Given the description of an element on the screen output the (x, y) to click on. 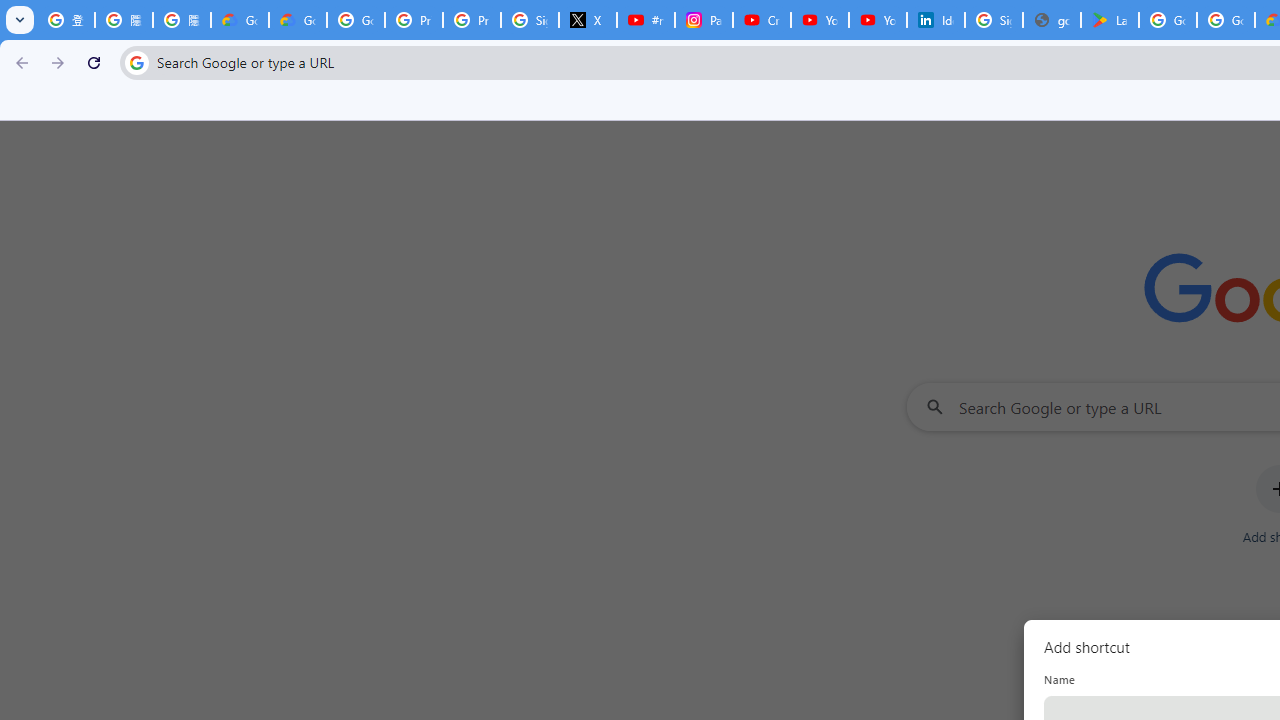
Search tabs (20, 20)
Last Shelter: Survival - Apps on Google Play (1110, 20)
Google Cloud Privacy Notice (297, 20)
Reload (93, 62)
Identity verification via Persona | LinkedIn Help (936, 20)
Google Workspace - Specific Terms (1225, 20)
X (587, 20)
YouTube Culture & Trends - YouTube Top 10, 2021 (877, 20)
